Given the description of an element on the screen output the (x, y) to click on. 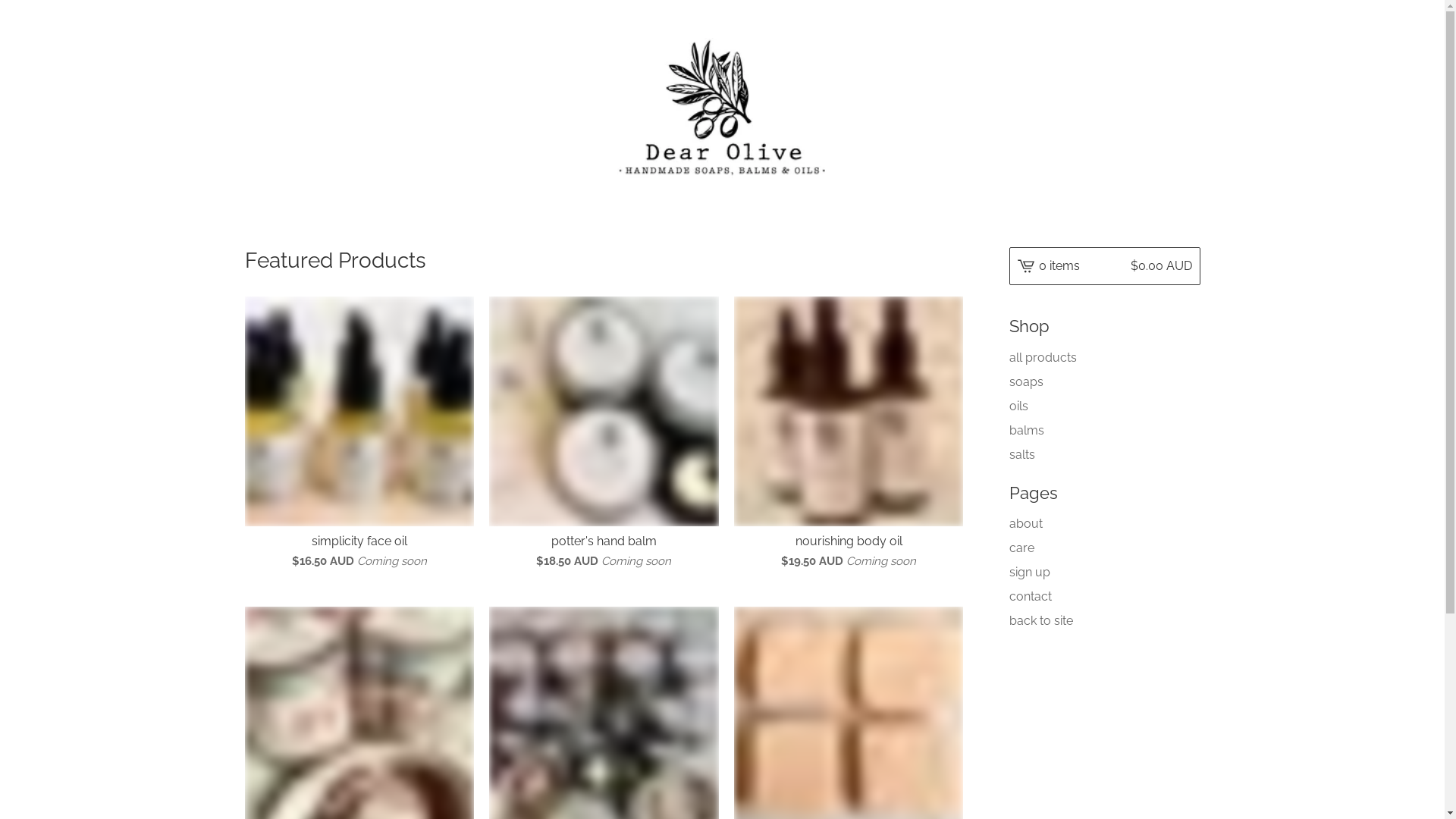
soaps Element type: text (1103, 382)
salts Element type: text (1103, 454)
potter's hand balm
$18.50 AUD Coming soon Element type: text (603, 436)
oils Element type: text (1103, 406)
simplicity face oil
$16.50 AUD Coming soon Element type: text (358, 436)
Dear Olive Element type: hover (722, 107)
all products Element type: text (1103, 357)
care Element type: text (1103, 548)
back to site Element type: text (1103, 620)
contact Element type: text (1103, 596)
sign up Element type: text (1103, 572)
0 items
$0.00 AUD Element type: text (1103, 266)
nourishing body oil
$19.50 AUD Coming soon Element type: text (848, 436)
balms Element type: text (1103, 430)
about Element type: text (1103, 523)
